Given the description of an element on the screen output the (x, y) to click on. 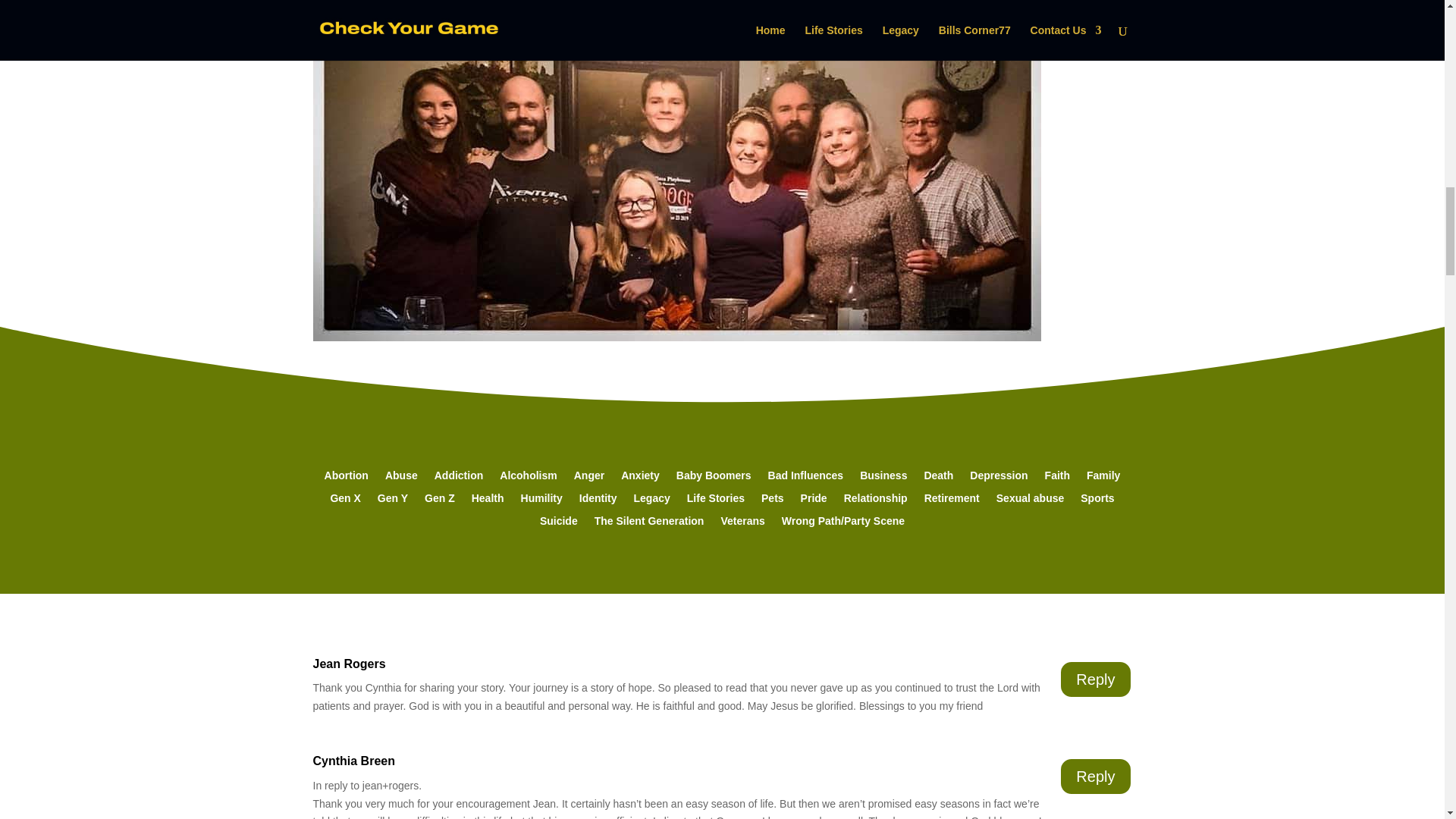
Bad Influences (806, 478)
Gen X (344, 501)
Gen Z (439, 501)
Business (883, 478)
Humility (541, 501)
Alcoholism (527, 478)
Faith (1057, 478)
Family (1102, 478)
Gen Y (392, 501)
Abuse (401, 478)
Depression (998, 478)
Addiction (458, 478)
Abortion (346, 478)
Anger (588, 478)
